Given the description of an element on the screen output the (x, y) to click on. 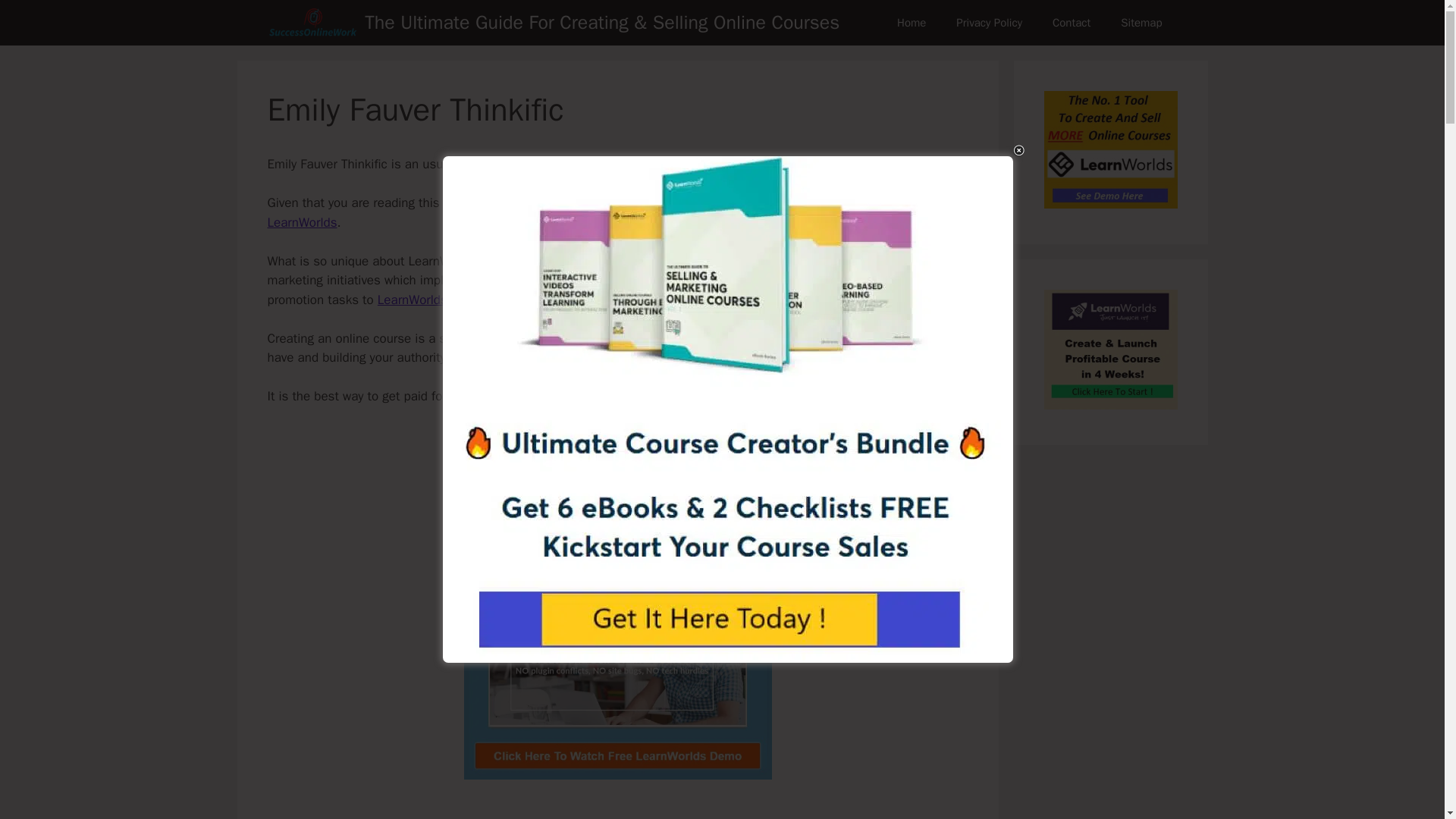
Privacy Policy (988, 22)
Sitemap (1140, 22)
Contact (1070, 22)
LearnWorlds (411, 299)
LearnWorlds (301, 222)
Home (911, 22)
Close (1019, 150)
Thinkific customers (713, 163)
